Given the description of an element on the screen output the (x, y) to click on. 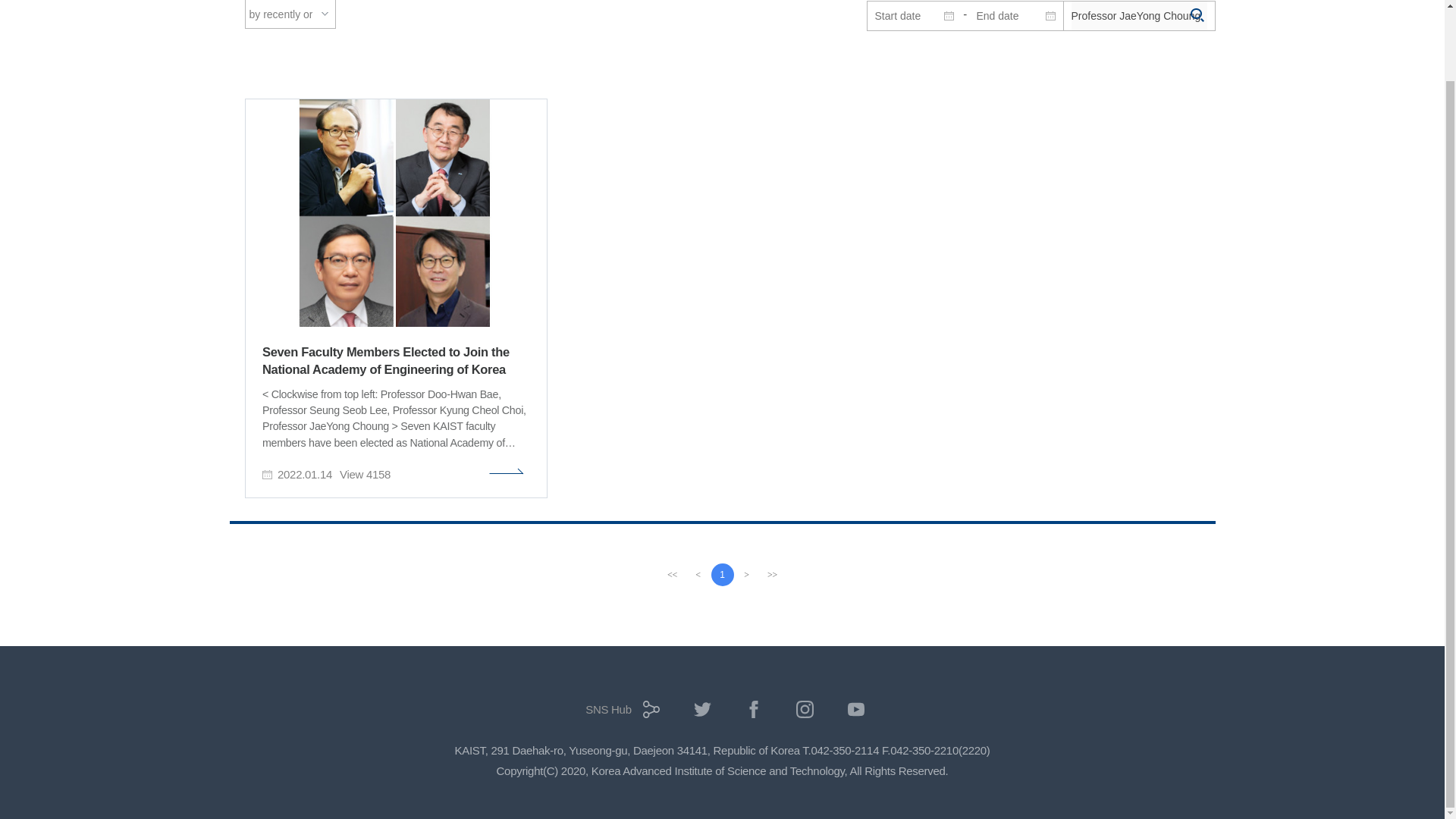
Input a Keyword (1138, 15)
1 (722, 574)
SNS Hub (619, 715)
Professor JaeYong Choung (1138, 15)
